Given the description of an element on the screen output the (x, y) to click on. 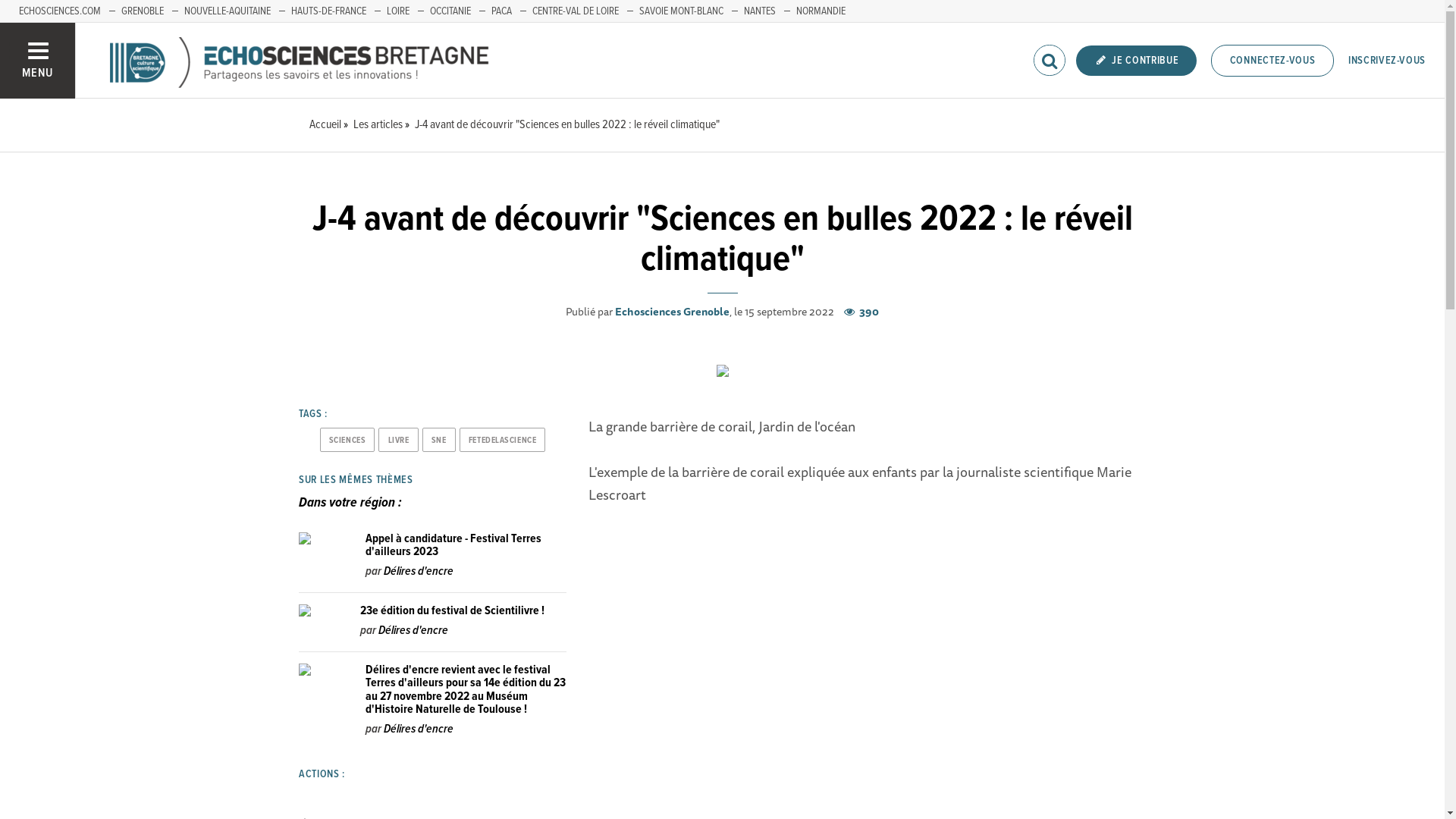
GRENOBLE Element type: text (142, 11)
Accueil Element type: text (325, 124)
SCIENCES Element type: text (347, 439)
SNE Element type: text (438, 439)
JE CONTRIBUE Element type: text (1136, 60)
INSCRIVEZ-VOUS Element type: text (1386, 60)
LIVRE Element type: text (397, 439)
ECHOSCIENCES.COM Element type: text (59, 11)
MENU Element type: text (37, 60)
Les articles Element type: text (377, 124)
CONNECTEZ-VOUS Element type: text (1272, 60)
PACA Element type: text (501, 11)
HAUTS-DE-FRANCE Element type: text (328, 11)
SAVOIE MONT-BLANC Element type: text (681, 11)
FETEDELASCIENCE Element type: text (502, 439)
OCCITANIE Element type: text (449, 11)
Echosciences Grenoble Element type: text (672, 311)
NORMANDIE Element type: text (820, 11)
CENTRE-VAL DE LOIRE Element type: text (575, 11)
NANTES Element type: text (759, 11)
LOIRE Element type: text (397, 11)
NOUVELLE-AQUITAINE Element type: text (227, 11)
